Given the description of an element on the screen output the (x, y) to click on. 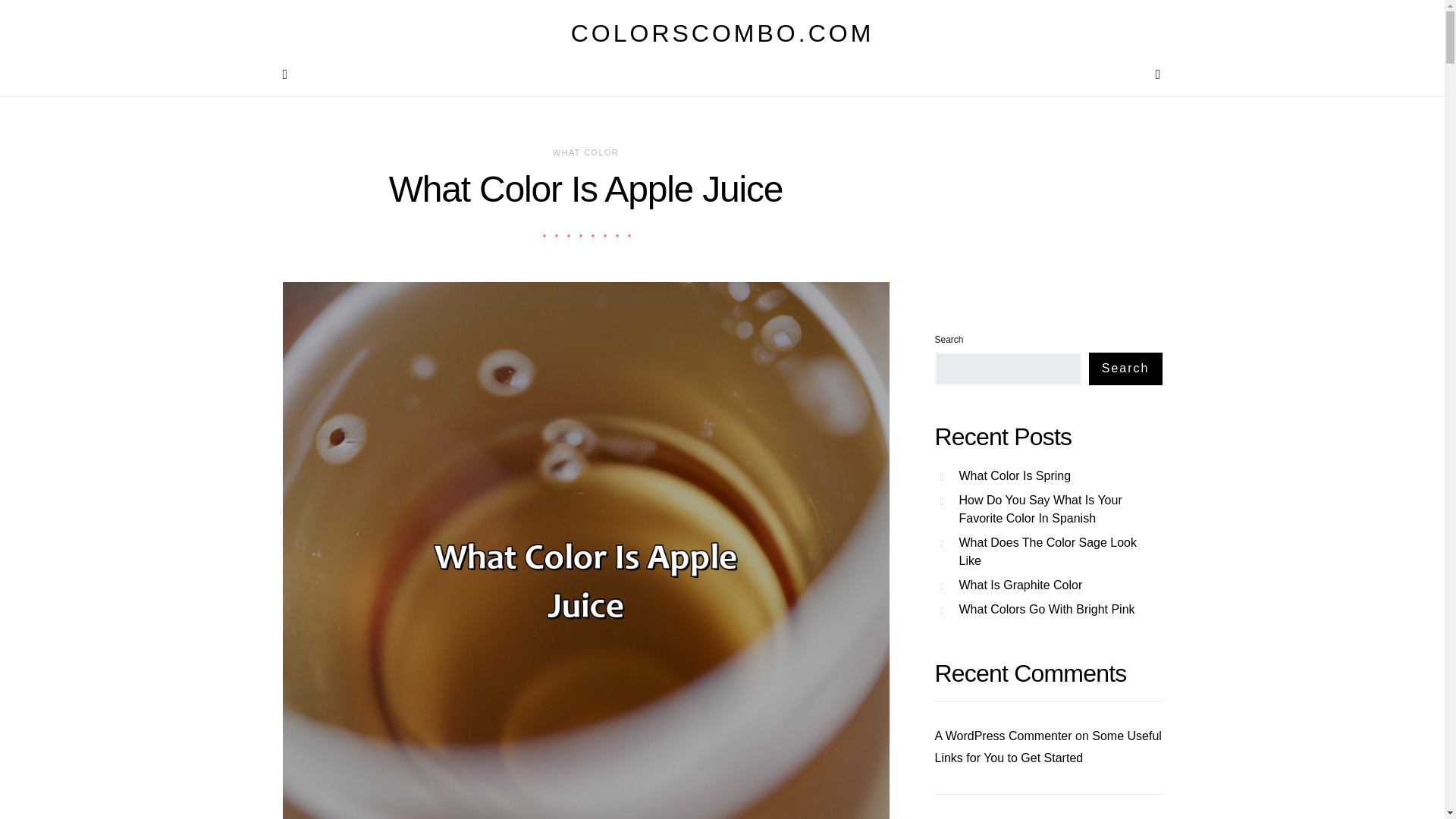
COLORSCOMBO.COM (722, 33)
WHAT COLOR (585, 152)
